Given the description of an element on the screen output the (x, y) to click on. 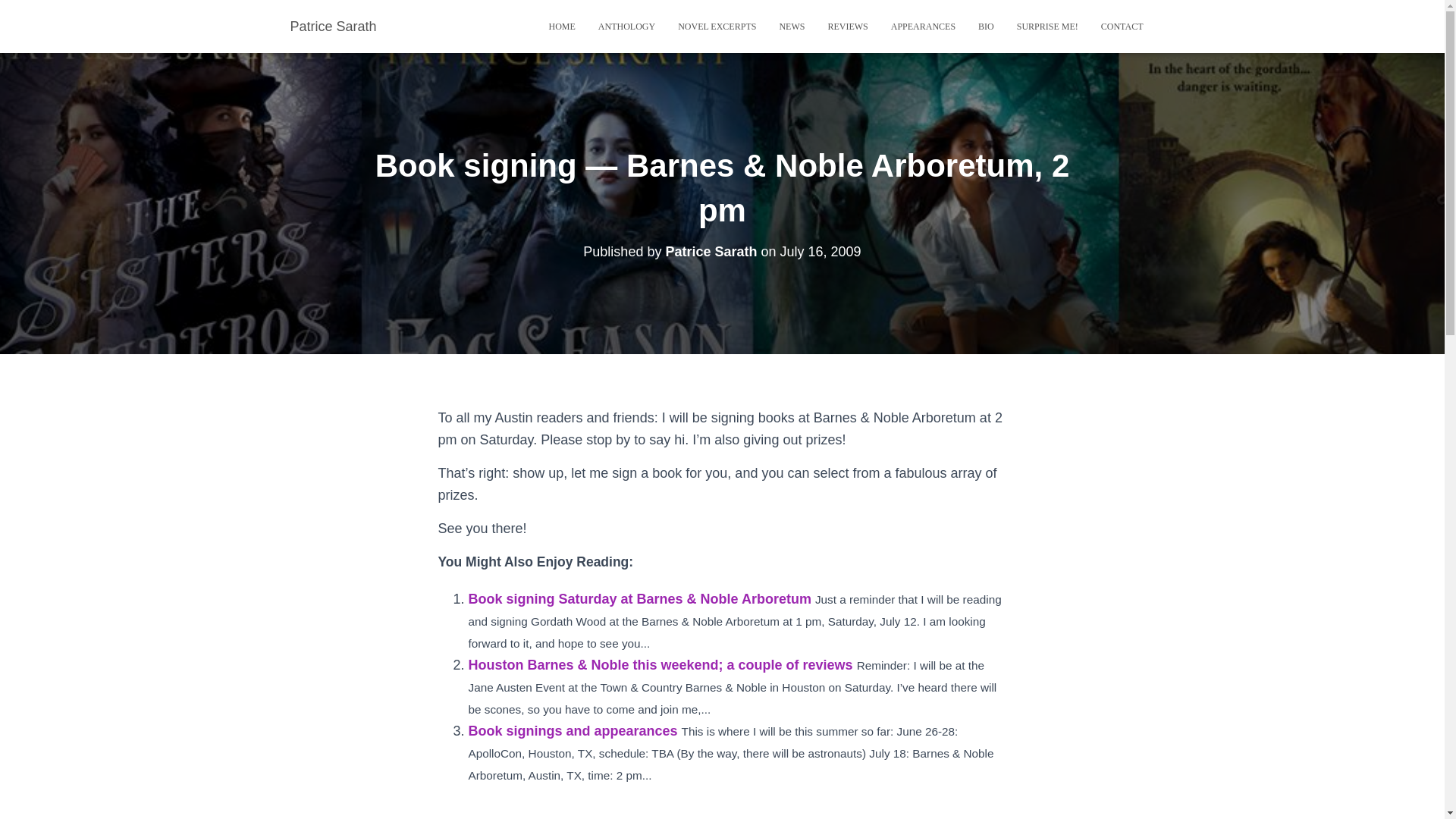
REVIEWS (847, 26)
ANTHOLOGY (626, 26)
CONTACT (1121, 26)
Patrice Sarath (333, 26)
Patrice Sarath (333, 26)
Home (561, 26)
APPEARANCES (922, 26)
Reviews (847, 26)
SURPRISE ME! (1047, 26)
Surprise Me! (1047, 26)
Book signings and appearances (573, 730)
News (791, 26)
HOME (561, 26)
Patrice Sarath (711, 251)
NEWS (791, 26)
